Given the description of an element on the screen output the (x, y) to click on. 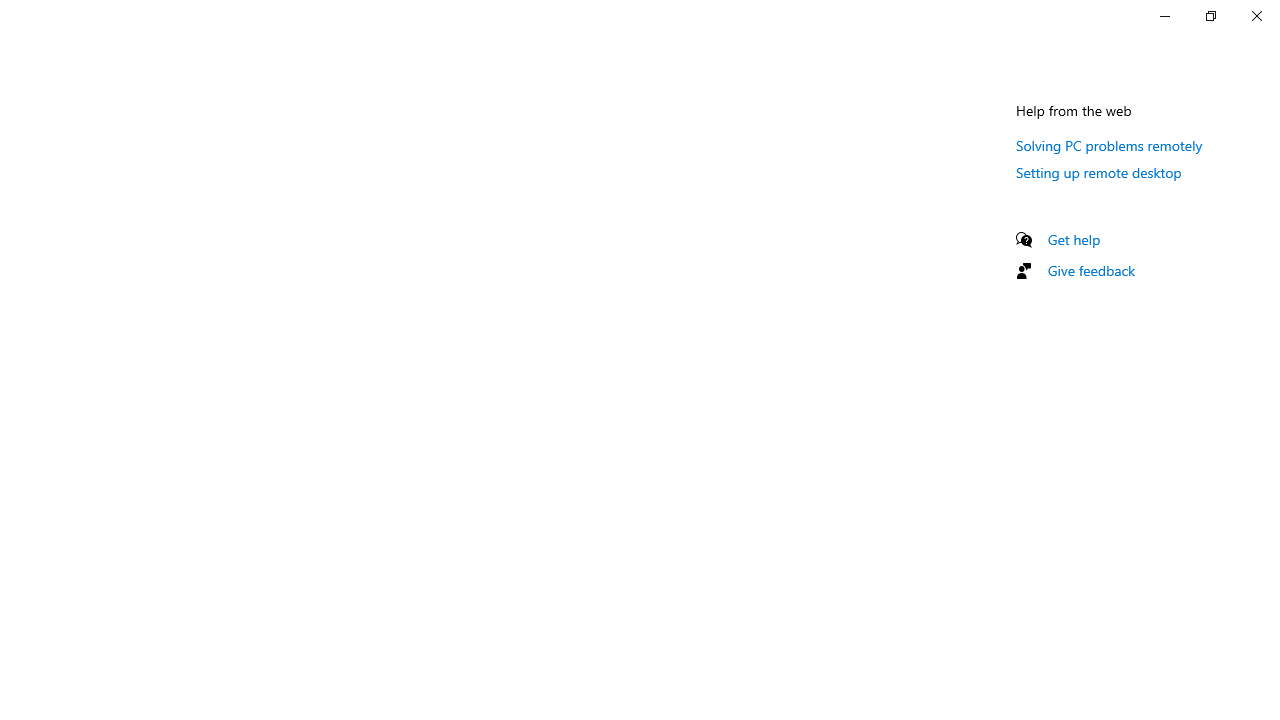
Restore Settings (1210, 15)
Minimize Settings (1164, 15)
Get help (1074, 239)
Give feedback (1091, 270)
Close Settings (1256, 15)
Solving PC problems remotely (1109, 145)
Setting up remote desktop (1098, 172)
